Given the description of an element on the screen output the (x, y) to click on. 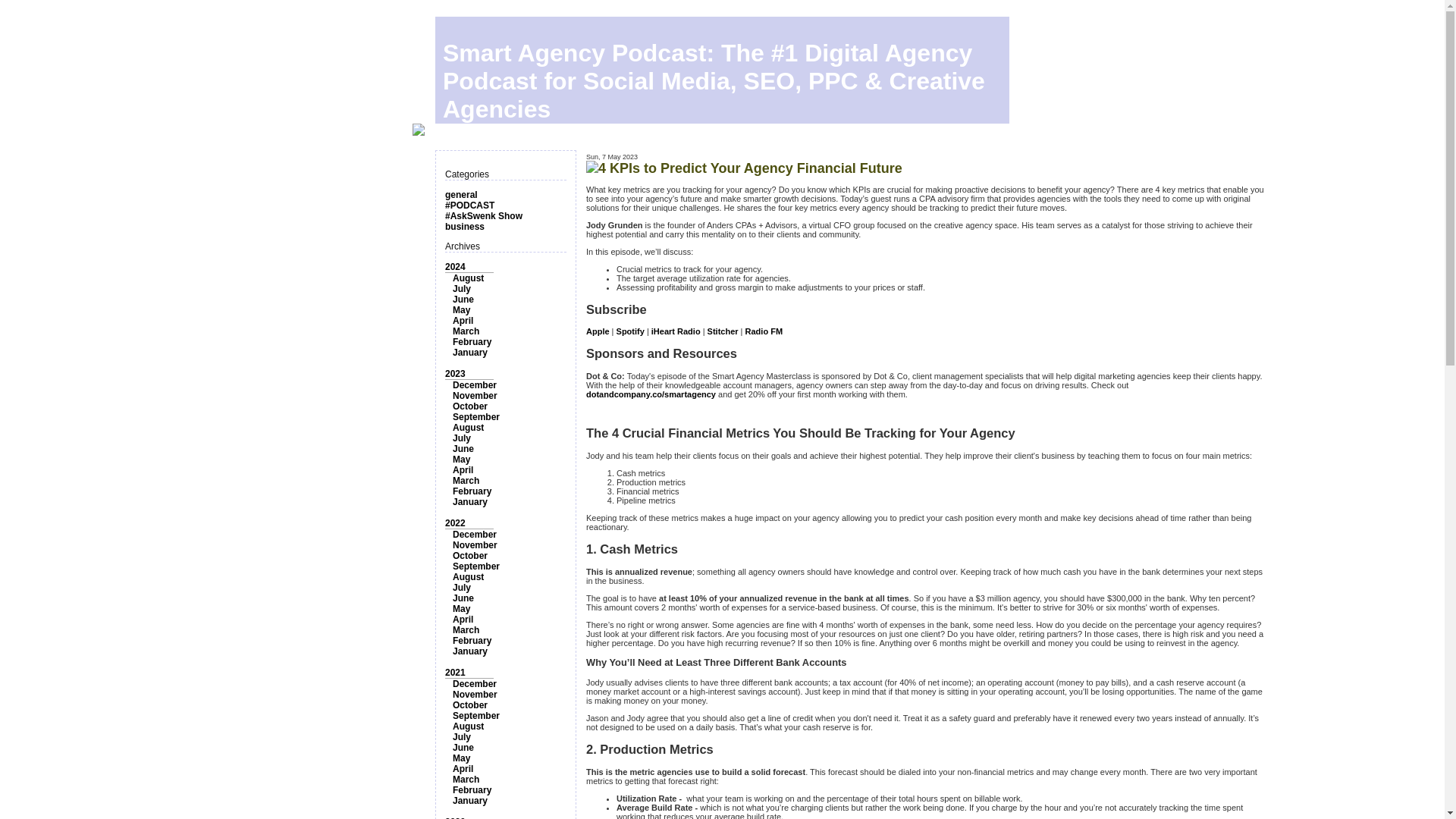
April (462, 470)
April (462, 619)
April (462, 320)
July (461, 288)
January (469, 501)
May (461, 459)
November (474, 395)
May (461, 608)
December (474, 385)
May (461, 309)
